Given the description of an element on the screen output the (x, y) to click on. 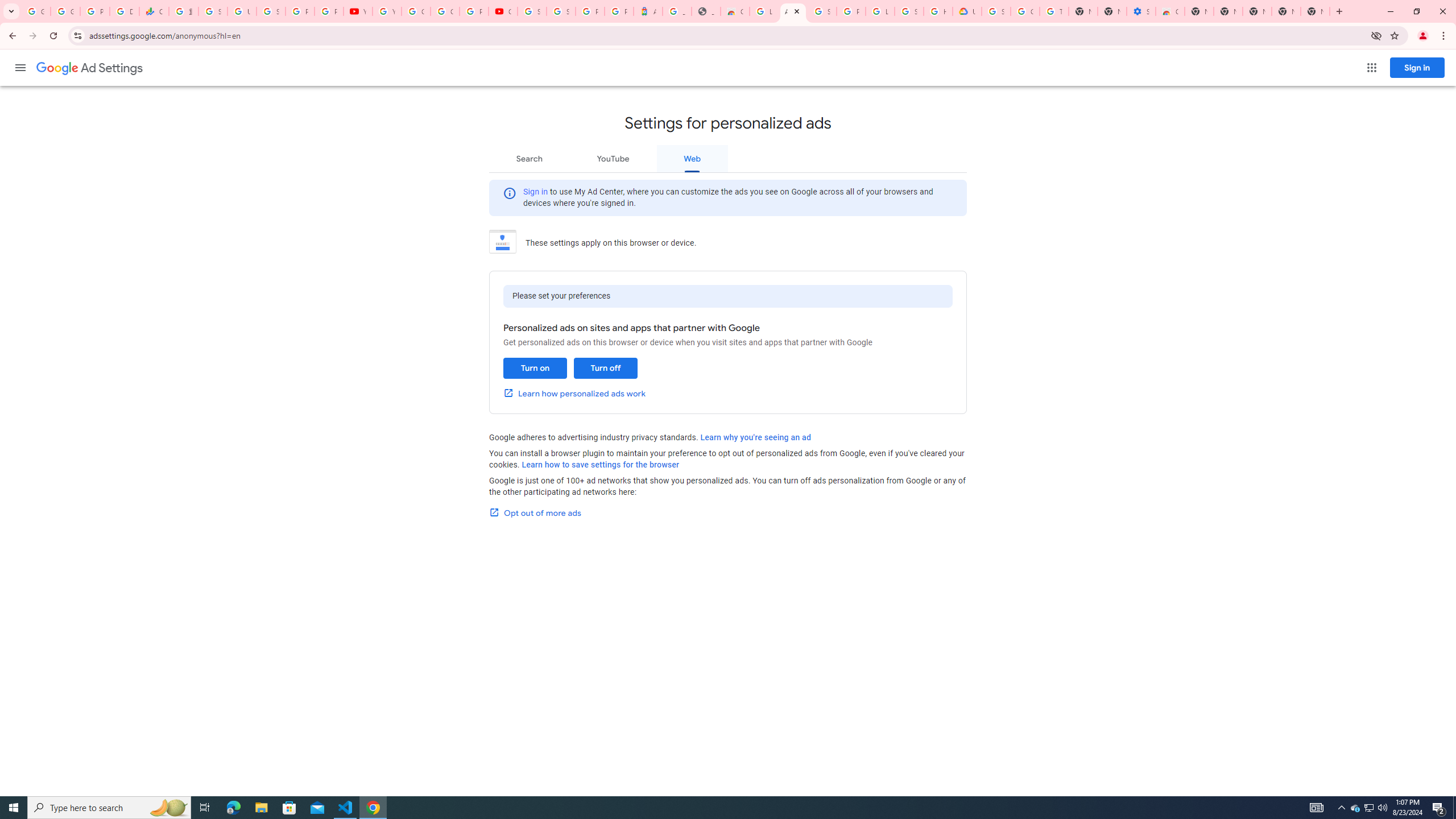
YouTube (386, 11)
Search (529, 157)
Sign in - Google Accounts (212, 11)
Sign in - Google Accounts (821, 11)
Ad Settings (792, 11)
Chrome Web Store - Household (734, 11)
Currencies - Google Finance (153, 11)
Sign in - Google Accounts (560, 11)
Learn why you're seeing an ad (755, 437)
